Given the description of an element on the screen output the (x, y) to click on. 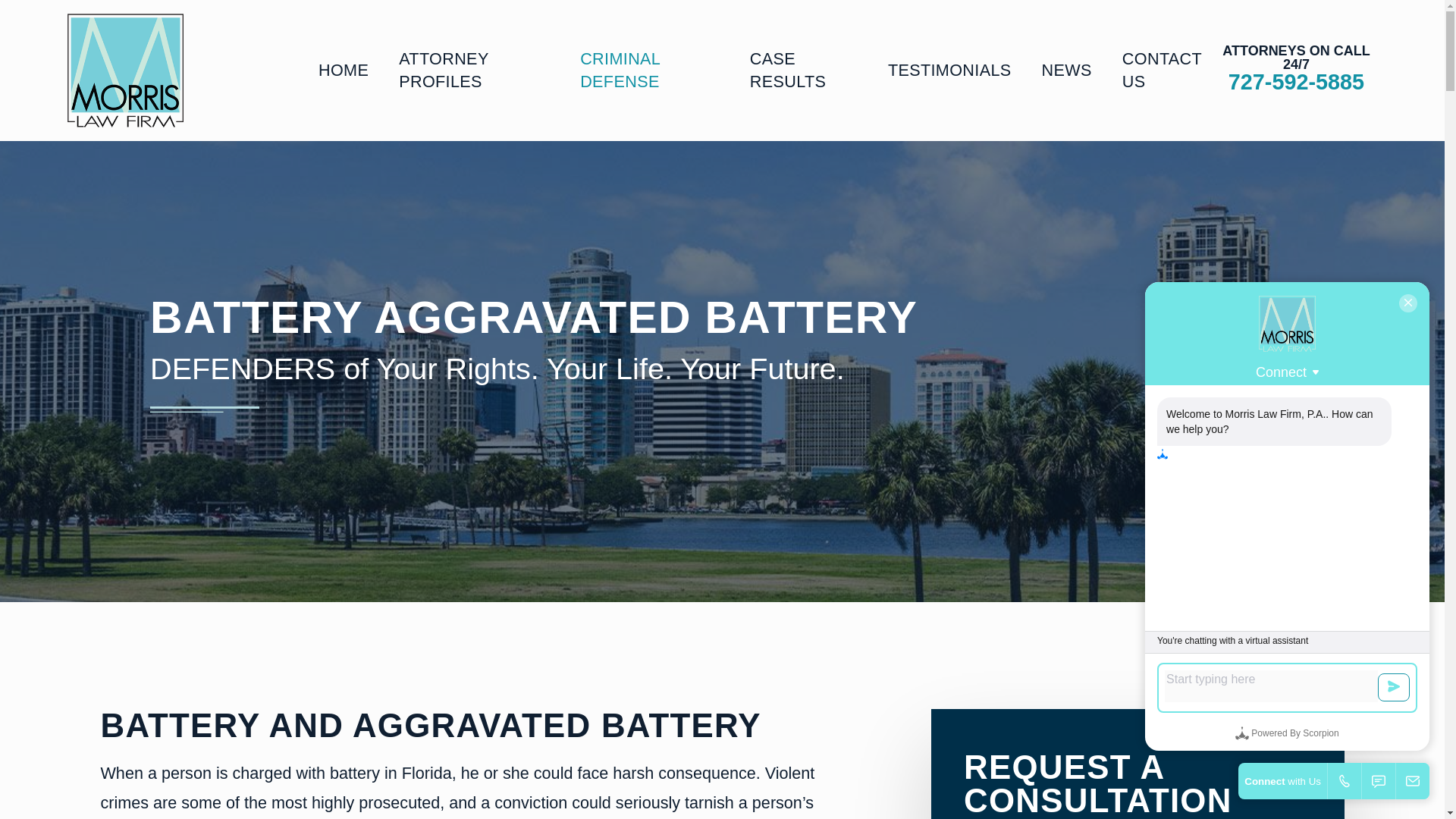
CRIMINAL DEFENSE (649, 70)
HOME (343, 70)
ATTORNEY PROFILES (474, 70)
Home (124, 70)
